Given the description of an element on the screen output the (x, y) to click on. 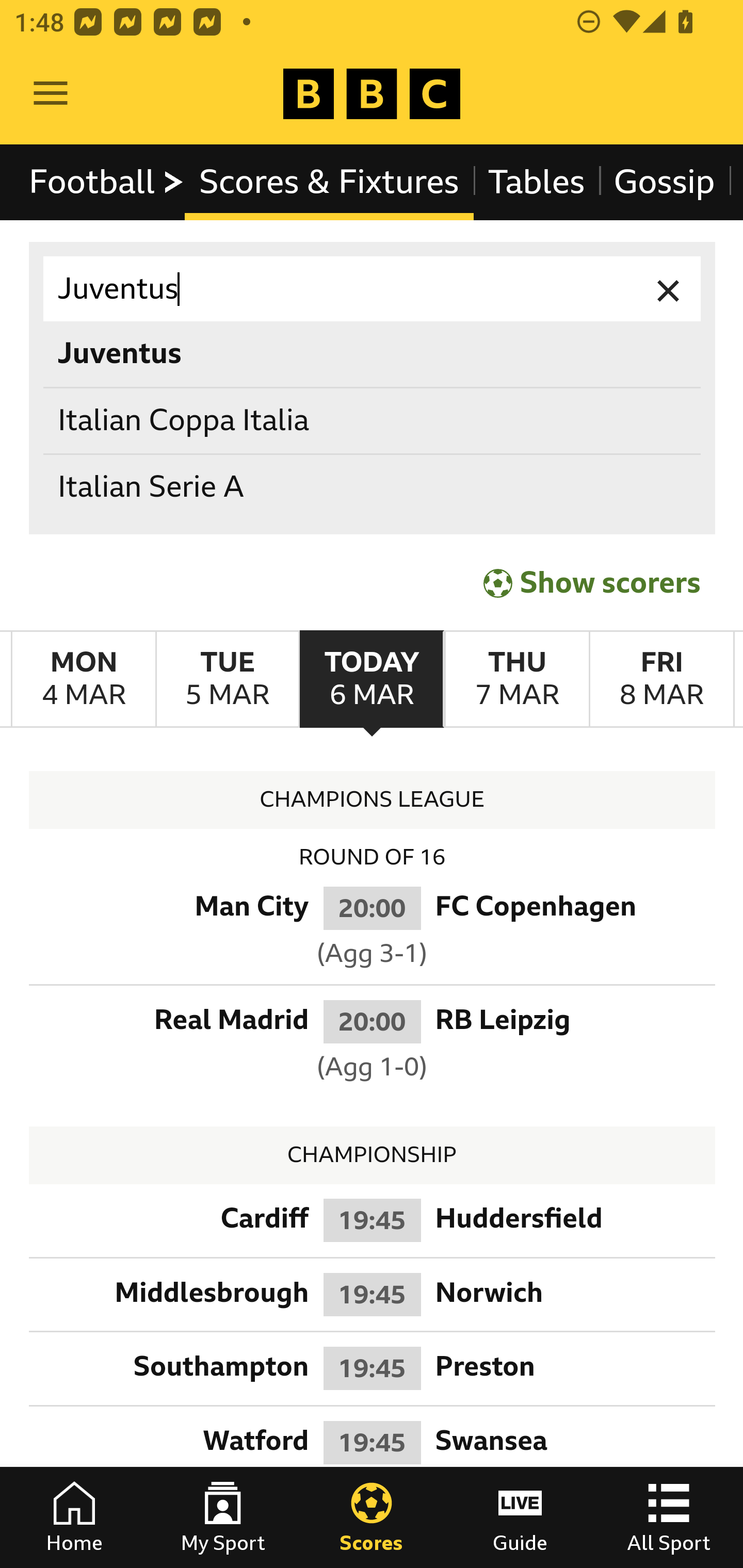
Open Menu (50, 93)
Football  (106, 181)
Scores & Fixtures (329, 181)
Tables (536, 181)
Gossip (664, 181)
Juventus (372, 289)
Clear input (669, 289)
Italian Coppa Italia (372, 419)
Italian Serie A (372, 488)
Show scorers (591, 582)
MondayMarch 4th Monday March 4th (83, 678)
TuesdayMarch 5th Tuesday March 5th (227, 678)
ThursdayMarch 7th Thursday March 7th (516, 678)
FridayMarch 8th Friday March 8th (661, 678)
Home (74, 1517)
My Sport (222, 1517)
Guide (519, 1517)
All Sport (668, 1517)
